Given the description of an element on the screen output the (x, y) to click on. 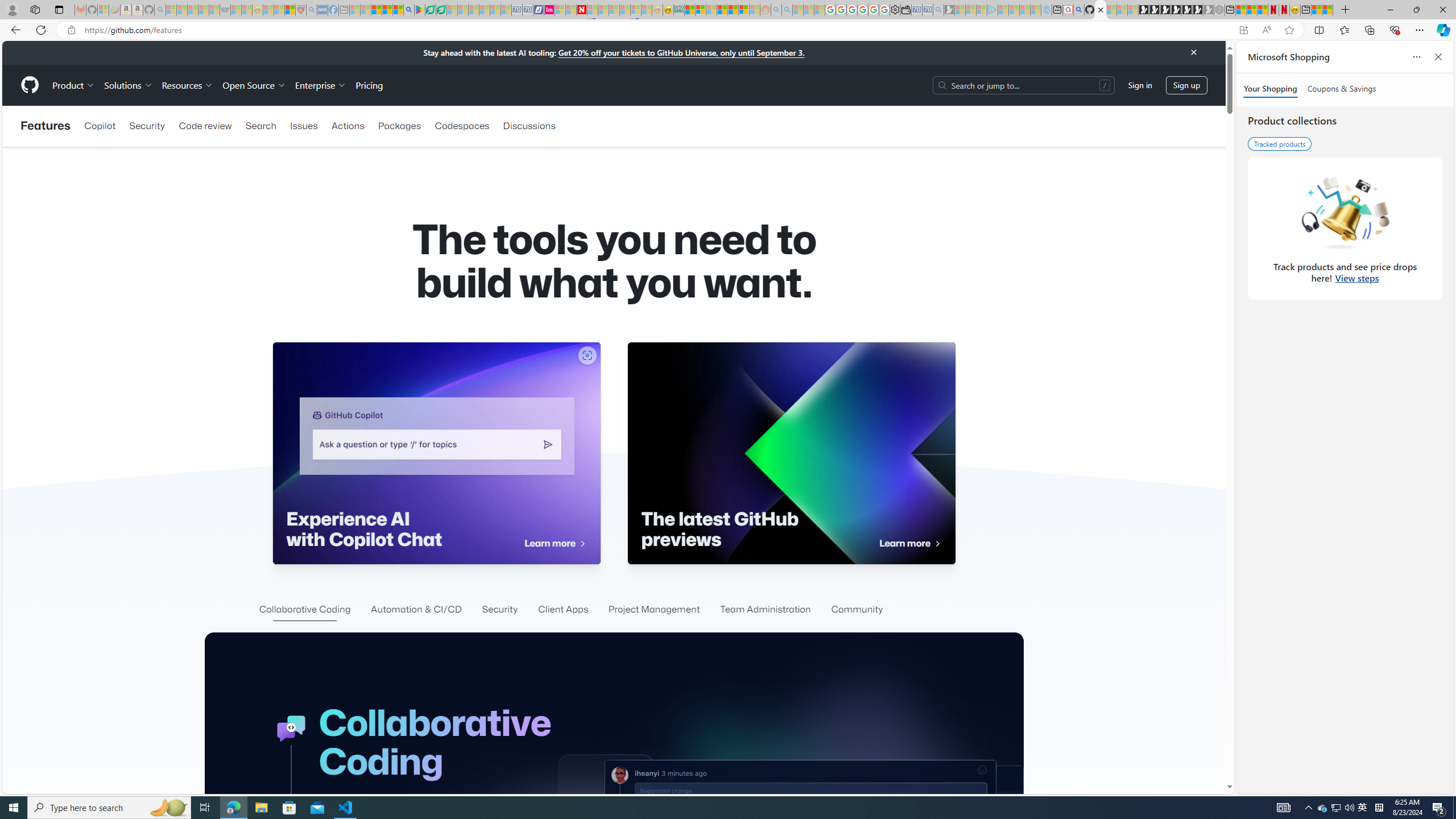
Enterprise (319, 84)
Wildlife - MSN (1316, 9)
Project Management (654, 609)
Class: octicon arrow-symbol-mktg octicon (936, 543)
Resources (187, 84)
